Given the description of an element on the screen output the (x, y) to click on. 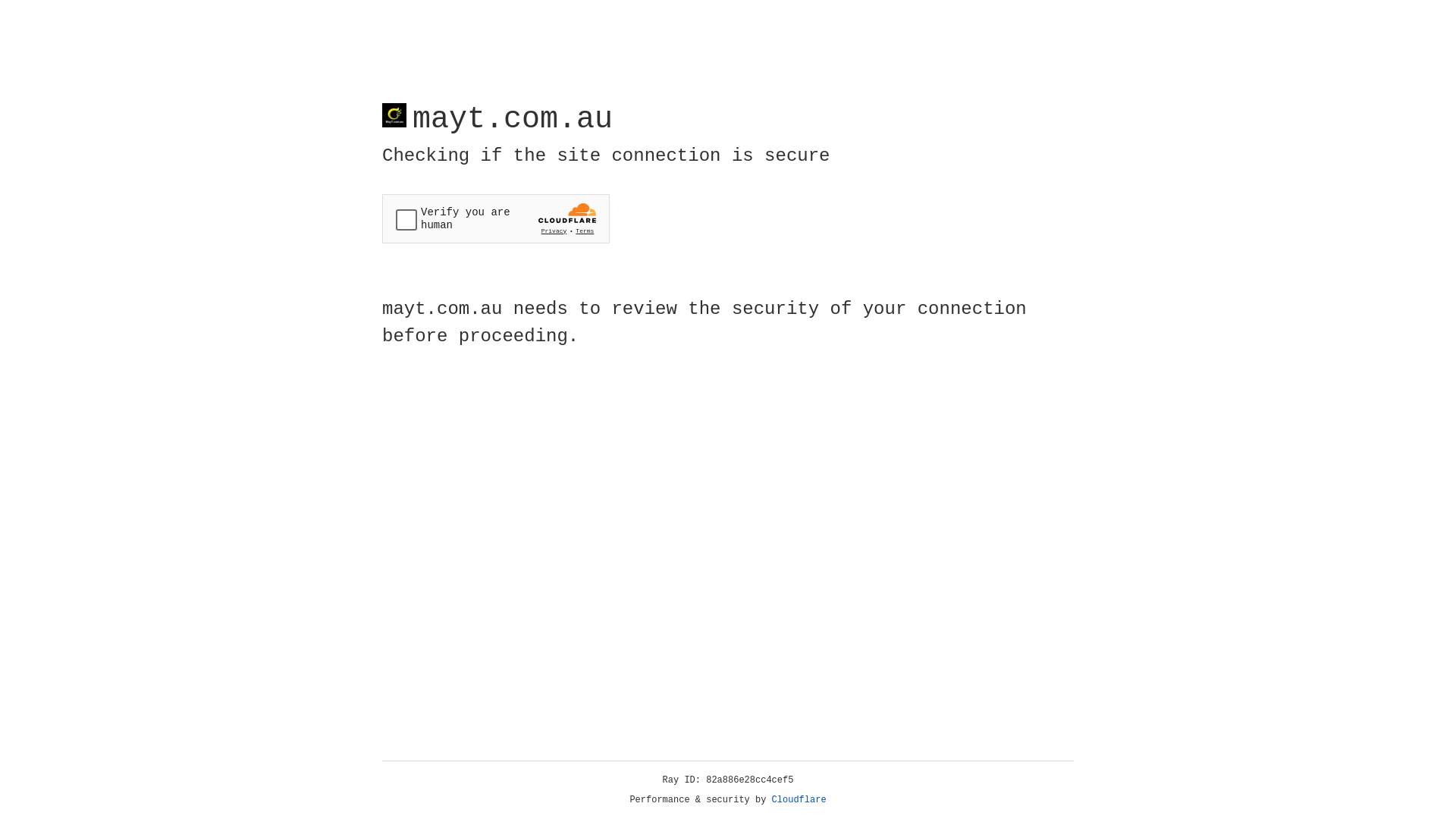
Cloudflare Element type: text (798, 799)
Widget containing a Cloudflare security challenge Element type: hover (495, 218)
